Given the description of an element on the screen output the (x, y) to click on. 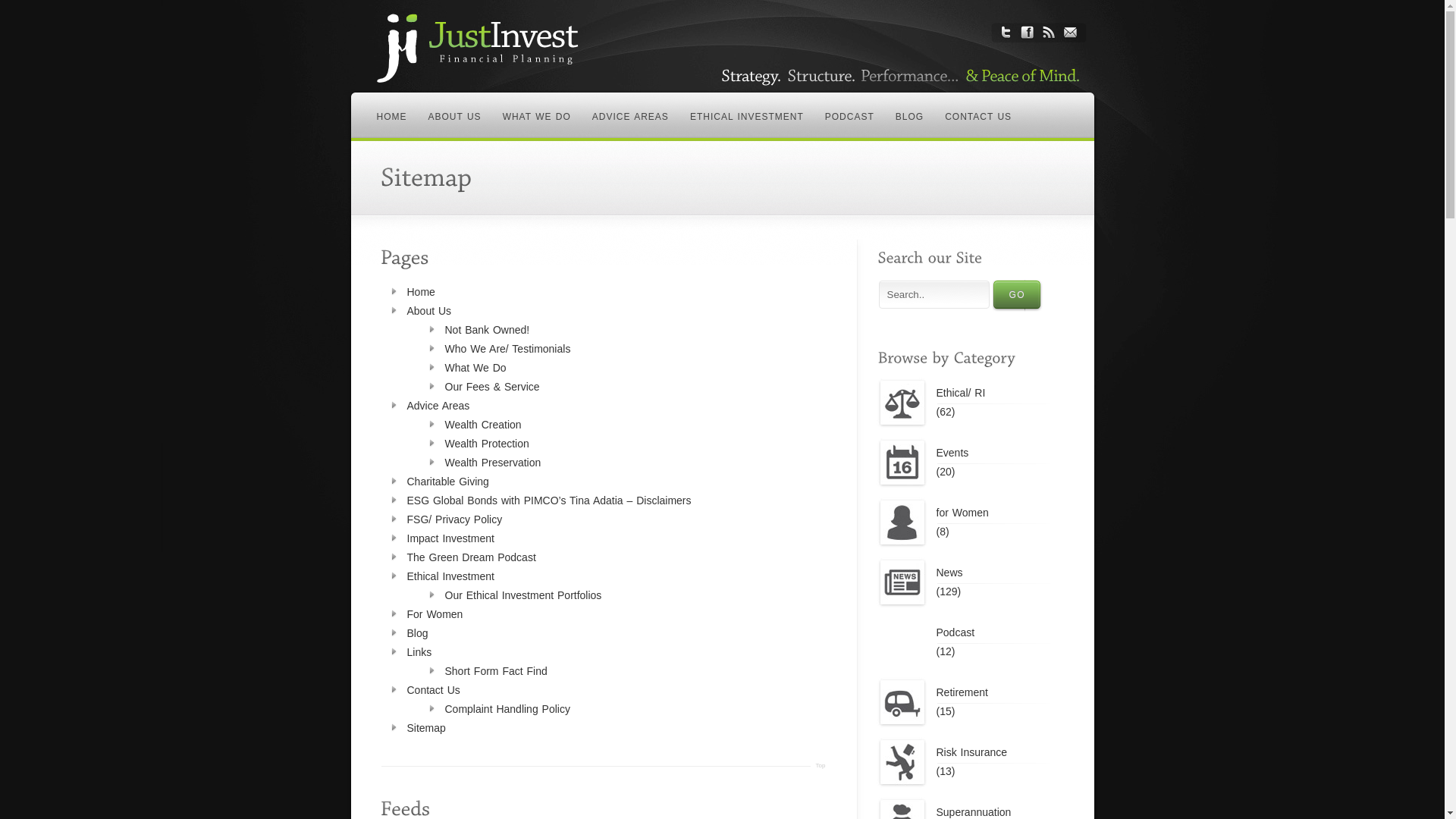
WHAT WE DO Element type: text (536, 116)
Retirement Element type: text (992, 691)
Home Element type: text (420, 291)
What We Do Element type: text (474, 367)
Who We Are/ Testimonials Element type: text (507, 348)
Wealth Creation Element type: text (482, 424)
Short Form Fact Find Element type: text (495, 671)
BLOG Element type: text (909, 116)
Blog Element type: text (416, 633)
FSG/ Privacy Policy Element type: text (454, 519)
Our Ethical Investment Portfolios Element type: text (522, 595)
Links Element type: text (418, 652)
Contact Us Element type: text (432, 690)
PODCAST Element type: text (849, 116)
Wealth Protection Element type: text (486, 443)
Not Bank Owned! Element type: text (486, 329)
ADVICE AREAS Element type: text (630, 116)
Advice Areas Element type: text (437, 405)
Charitable Giving Element type: text (447, 481)
For Women Element type: text (434, 614)
Wealth Preservation Element type: text (492, 462)
Podcast Element type: text (992, 632)
Complaint Handling Policy Element type: text (506, 708)
Our Fees & Service Element type: text (491, 386)
HOME Element type: text (391, 116)
About Us Element type: text (428, 310)
Risk Insurance Element type: text (992, 751)
Ethical Investment Element type: text (449, 576)
ETHICAL INVESTMENT Element type: text (746, 116)
GO Element type: text (1017, 295)
Ethical/ RI Element type: text (992, 392)
Impact Investment Element type: text (449, 538)
Events Element type: text (992, 452)
ABOUT US Element type: text (454, 116)
Sitemap Element type: text (425, 727)
CONTACT US Element type: text (978, 116)
for Women Element type: text (992, 512)
News Element type: text (992, 572)
Top Element type: text (817, 769)
The Green Dream Podcast Element type: text (470, 557)
